Given the description of an element on the screen output the (x, y) to click on. 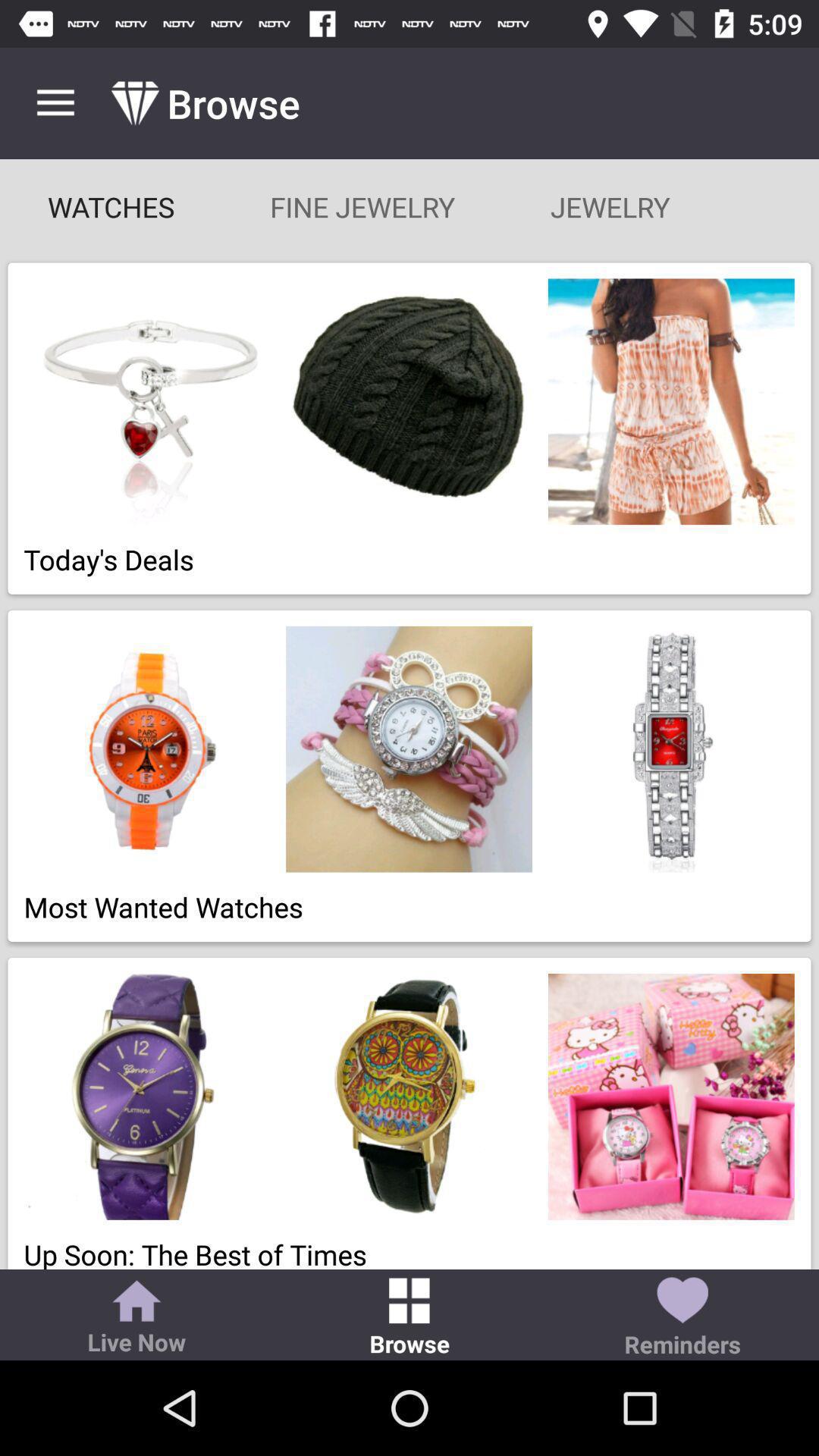
open icon next to browse icon (682, 1318)
